Given the description of an element on the screen output the (x, y) to click on. 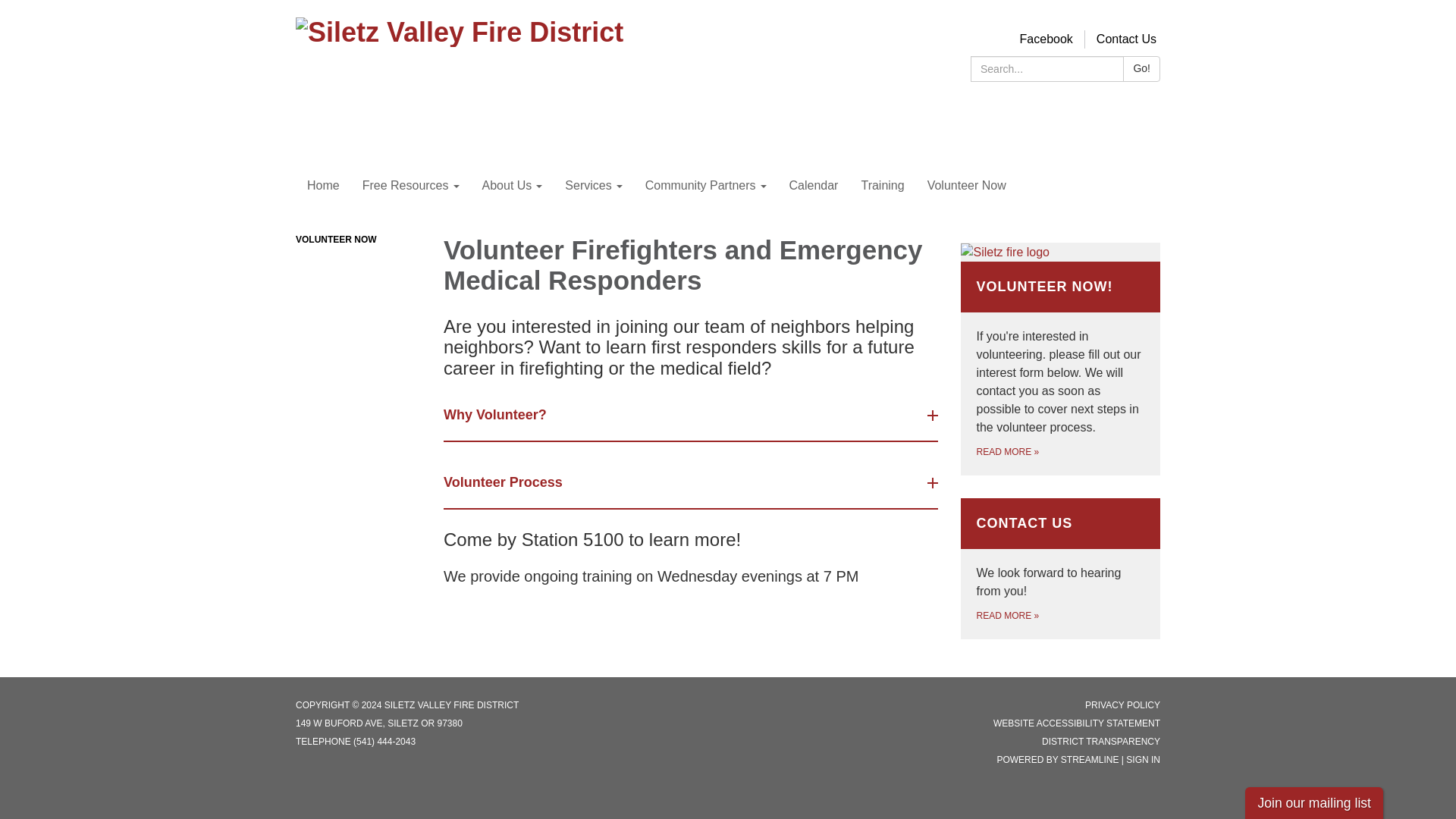
Go! (1136, 68)
Community Partners (699, 185)
Free Resources (404, 185)
Services (587, 185)
Calendar (807, 185)
About Us (506, 185)
Facebook (1040, 38)
Home (317, 185)
Contact Us (1119, 38)
Training (877, 185)
